Given the description of an element on the screen output the (x, y) to click on. 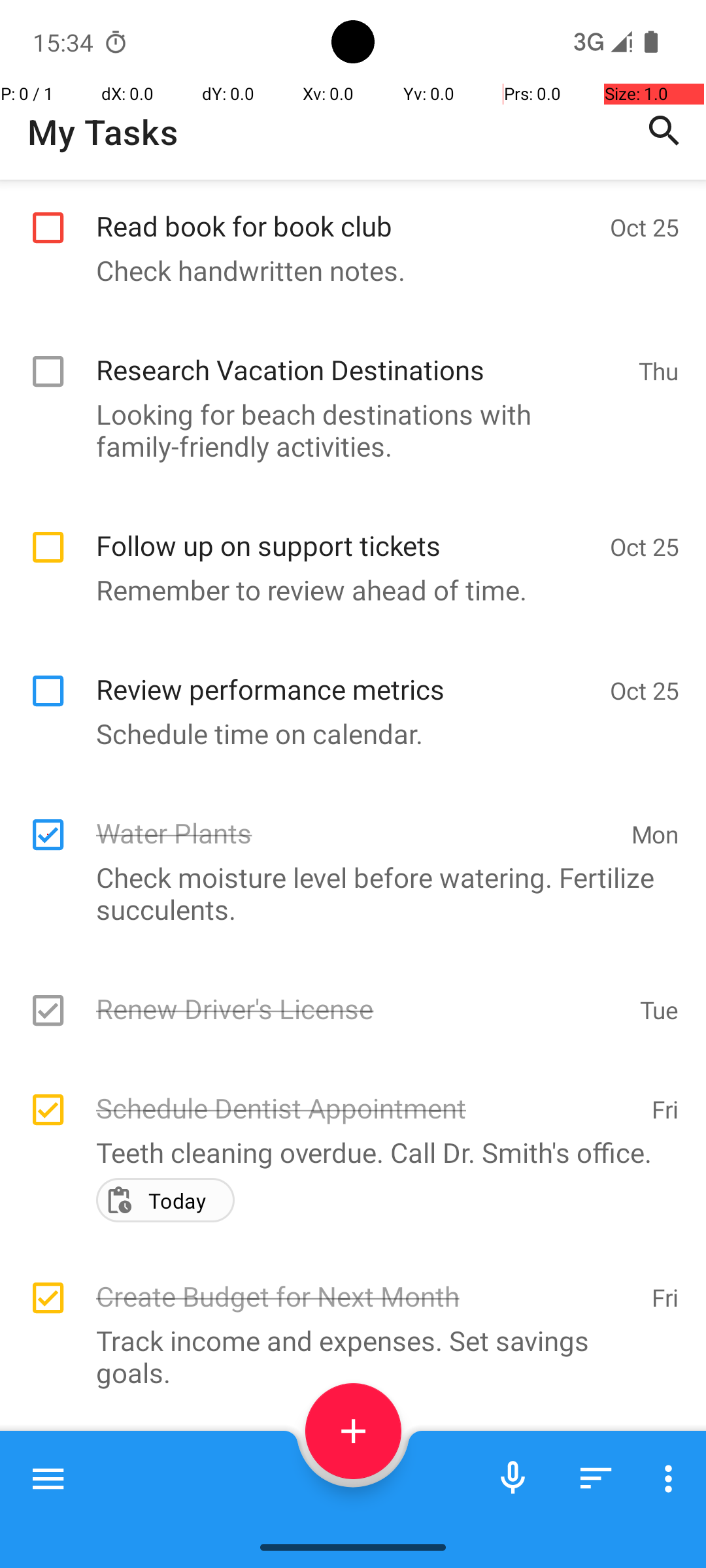
Read book for book club Element type: android.widget.TextView (346, 211)
Check handwritten notes. Element type: android.widget.TextView (346, 269)
Oct 25 Element type: android.widget.TextView (644, 226)
Follow up on support tickets Element type: android.widget.TextView (346, 372)
Remember to review ahead of time. Element type: android.widget.TextView (346, 430)
Schedule time on calendar. Element type: android.widget.TextView (346, 574)
